Given the description of an element on the screen output the (x, y) to click on. 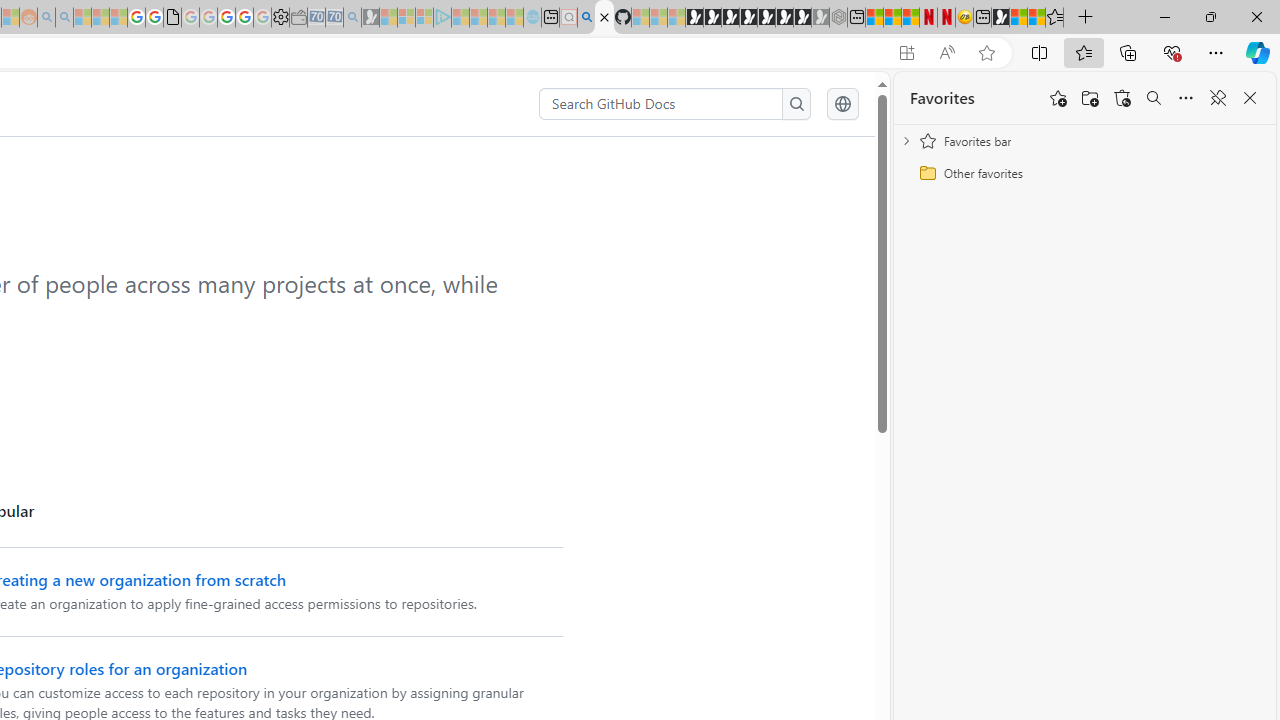
Select language: current language is English (842, 103)
